Given the description of an element on the screen output the (x, y) to click on. 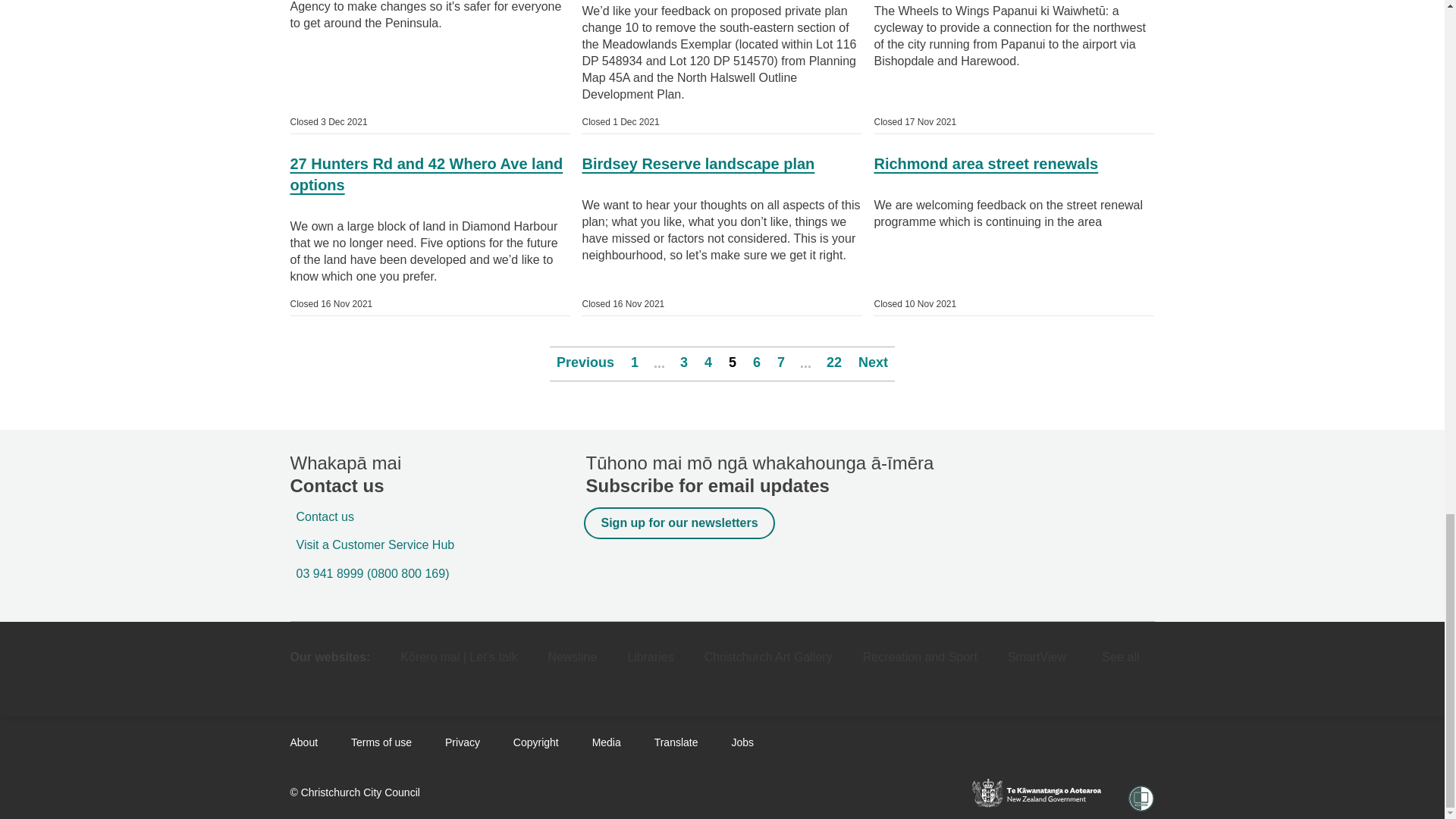
View next page of results (872, 363)
Previous (585, 363)
Birdsey Reserve landscape plan (720, 171)
27 Hunters Rd and 42 Whero Ave land options (429, 181)
Richmond area street renewals (1013, 171)
View previous page of results (585, 363)
